Given the description of an element on the screen output the (x, y) to click on. 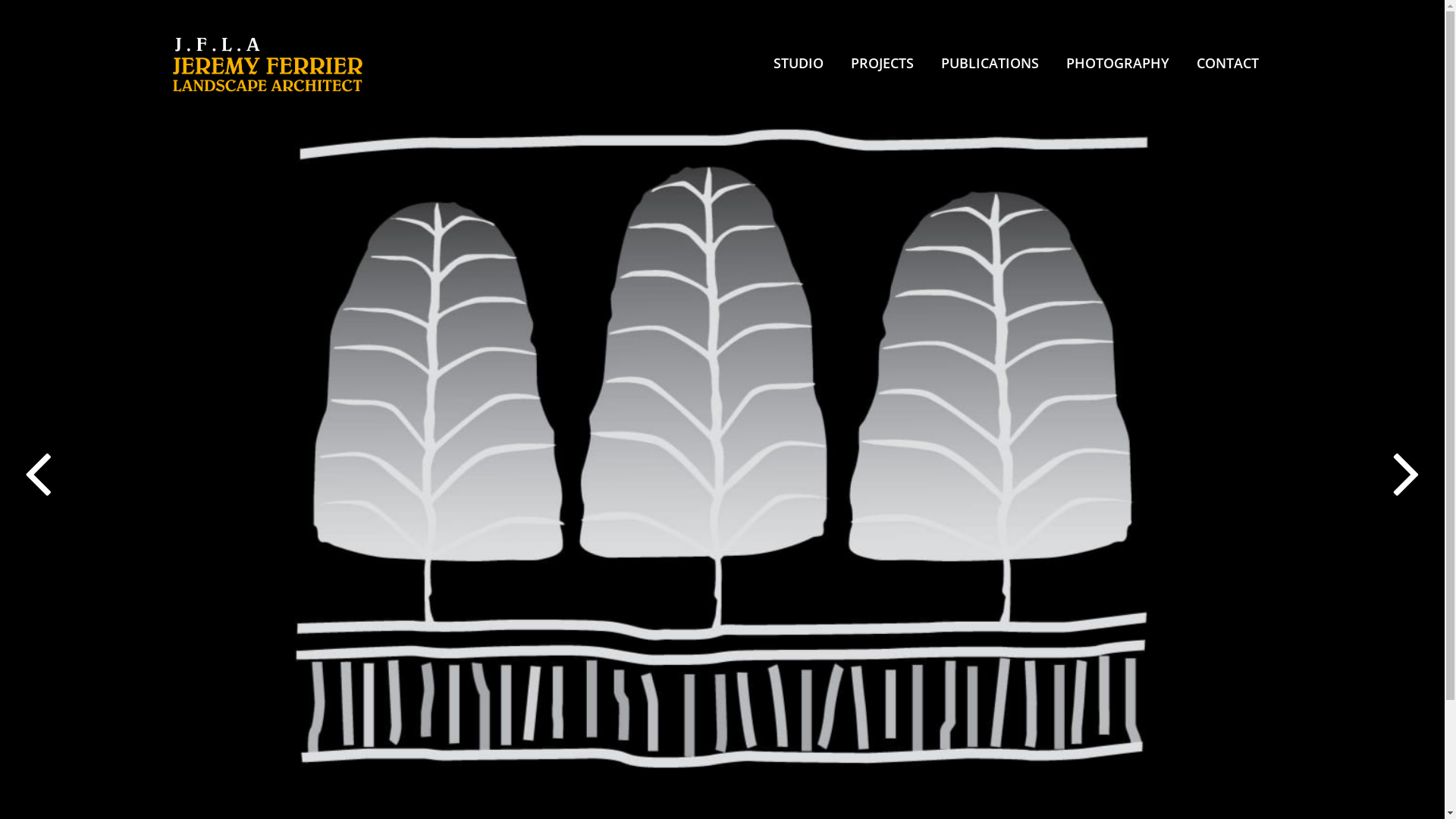
PUBLICATIONS Element type: text (988, 62)
CONTACT Element type: text (1227, 62)
PHOTOGRAPHY Element type: text (1117, 62)
STUDIO Element type: text (798, 62)
PROJECTS Element type: text (882, 62)
